Given the description of an element on the screen output the (x, y) to click on. 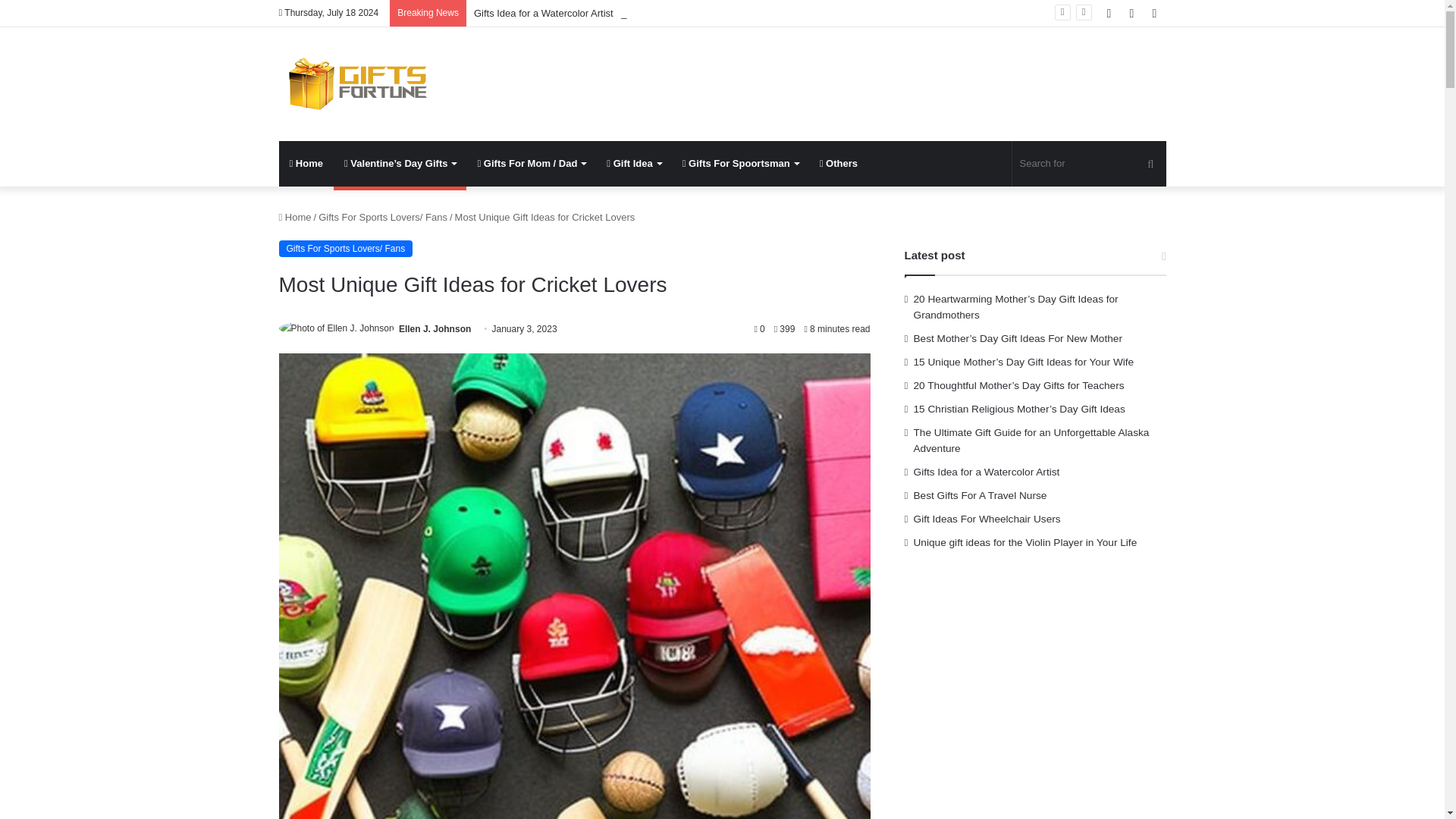
Ellen J. Johnson (434, 328)
GiftsFortune.com (354, 83)
Home (295, 216)
Others (838, 163)
Ellen J. Johnson (434, 328)
Search for (1088, 163)
Gift Idea (633, 163)
Gifts For Spoortsman (740, 163)
Gifts Idea for a Watercolor Artist (543, 12)
Home (306, 163)
